Given the description of an element on the screen output the (x, y) to click on. 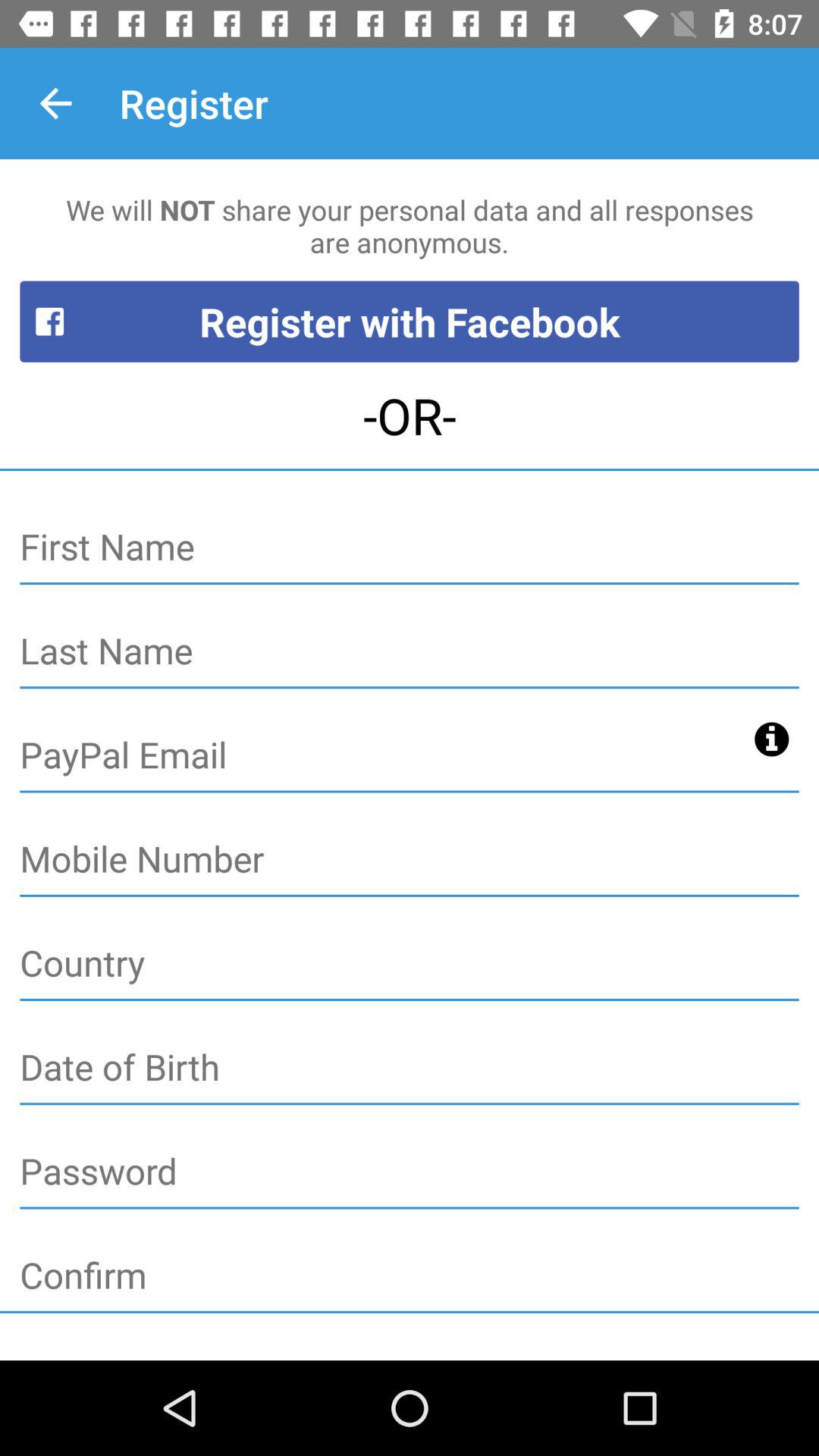
mobile number field (409, 860)
